Given the description of an element on the screen output the (x, y) to click on. 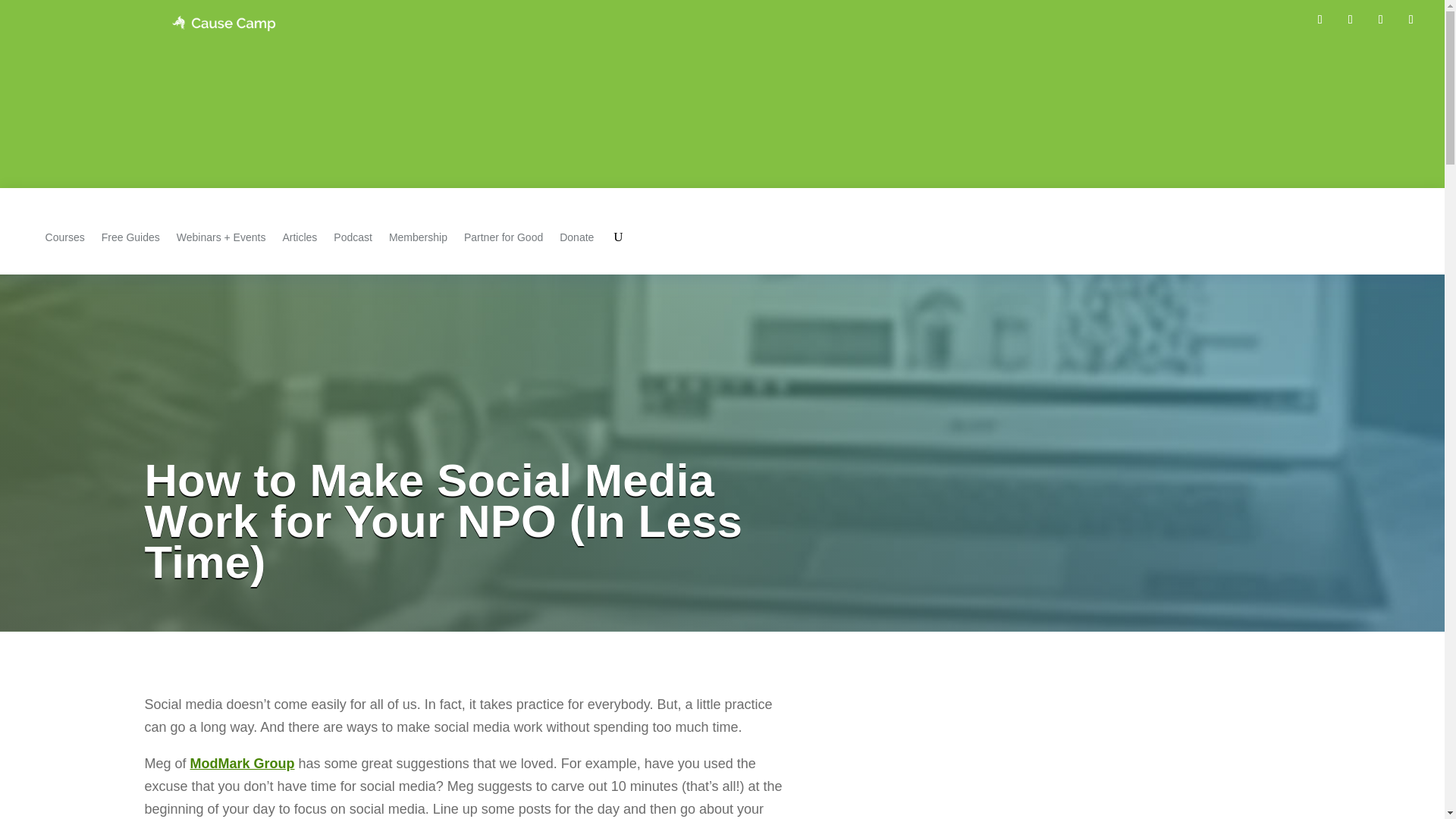
Partner for Good (503, 237)
Free Guides (130, 237)
Membership (417, 237)
ModMark Group (242, 763)
Follow on Youtube (1411, 19)
Follow on X (1350, 19)
Follow on LinkedIn (1380, 19)
Follow on Facebook (1319, 19)
